Given the description of an element on the screen output the (x, y) to click on. 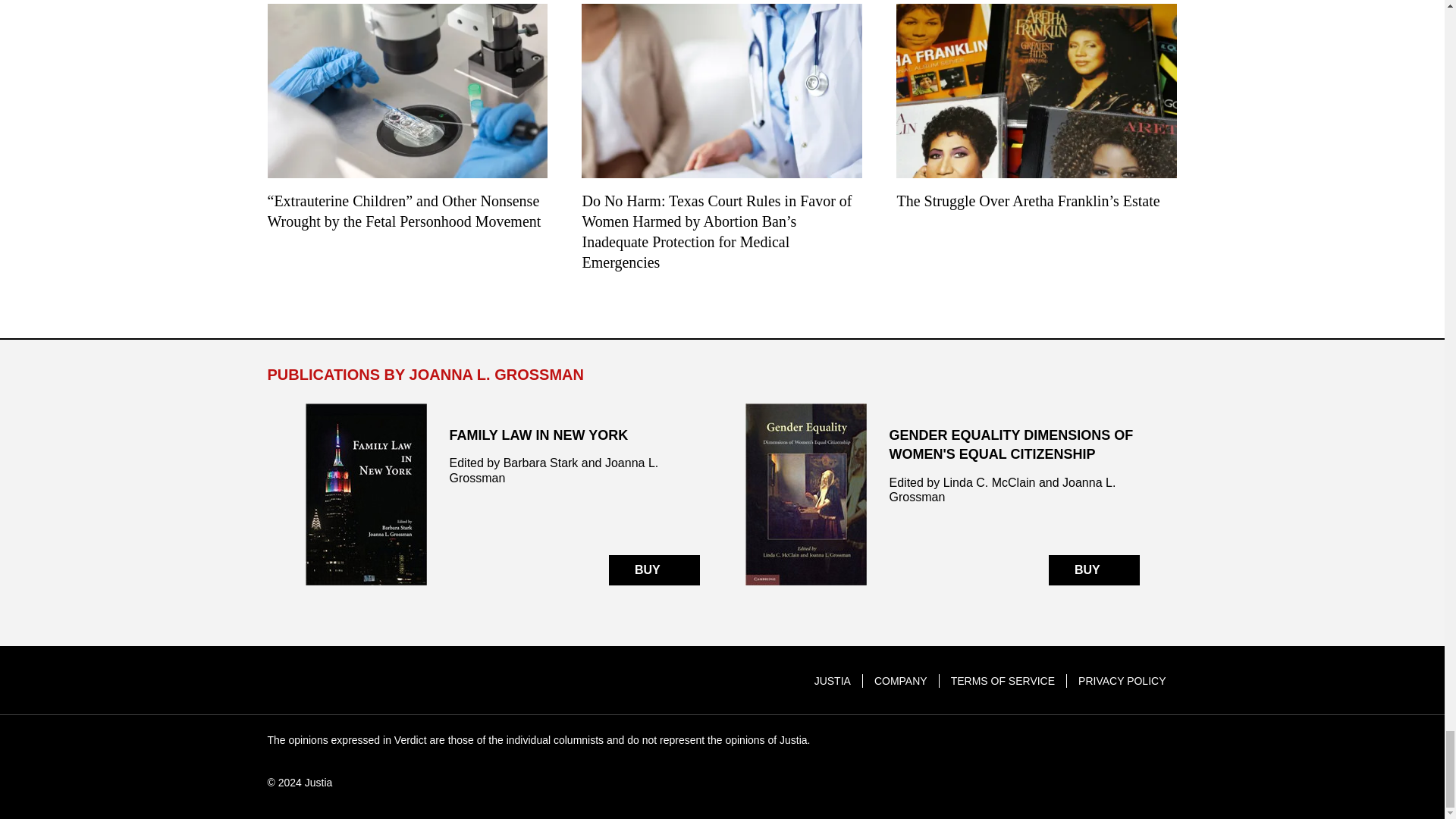
Gender Equality Dimensions of Women's Equal Citizenship (941, 494)
Family Law in New York (501, 494)
